Given the description of an element on the screen output the (x, y) to click on. 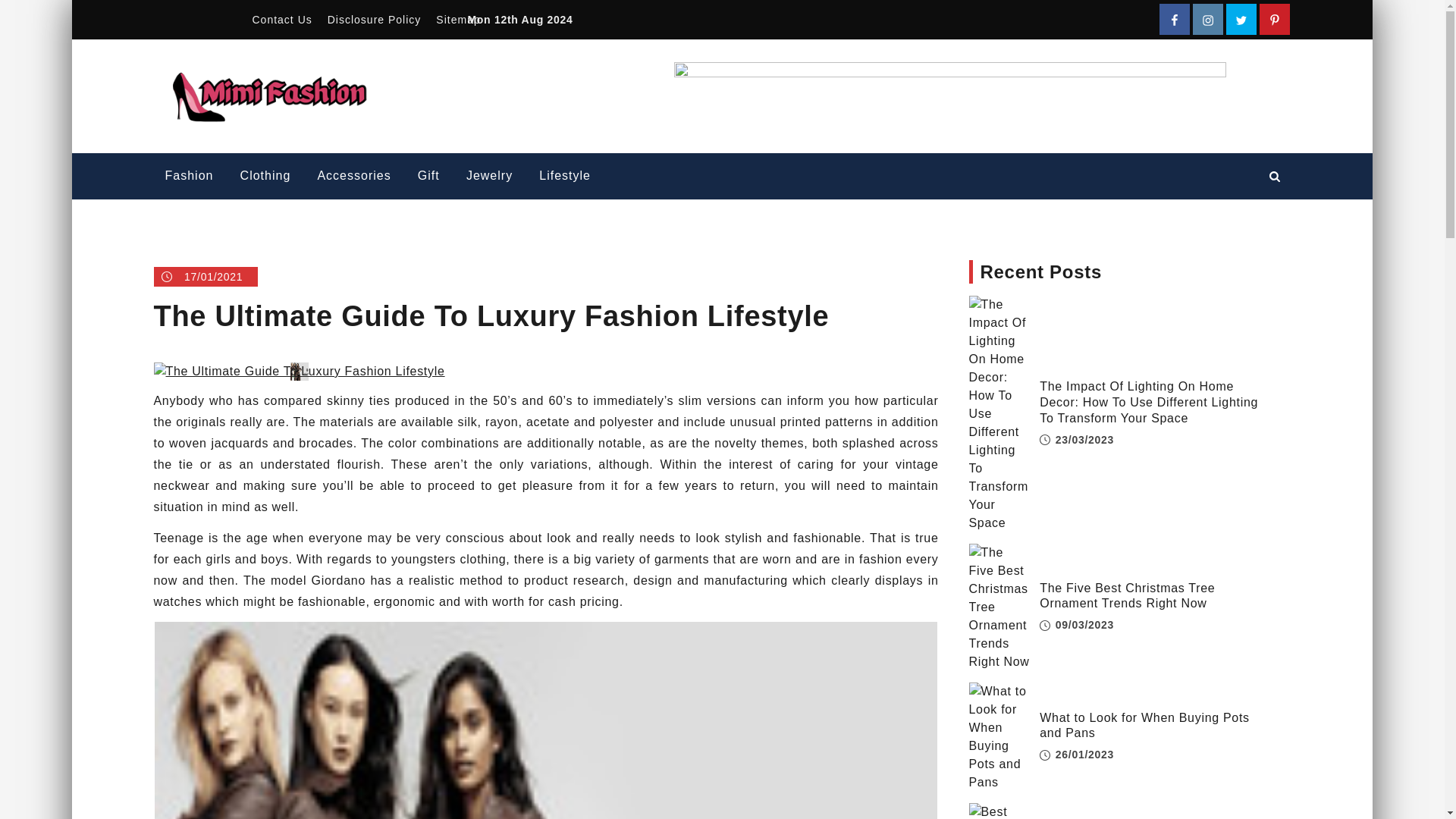
Fashion (188, 176)
The Ultimate Guide To Luxury Fashion Lifestyle (298, 371)
Gift (428, 176)
Twitter (1240, 19)
Contact Us (281, 19)
Jewelry (489, 176)
Pinterest (1273, 19)
Clothing (265, 176)
Instagram (1207, 19)
Best Products For Decorative Storage (999, 811)
